Given the description of an element on the screen output the (x, y) to click on. 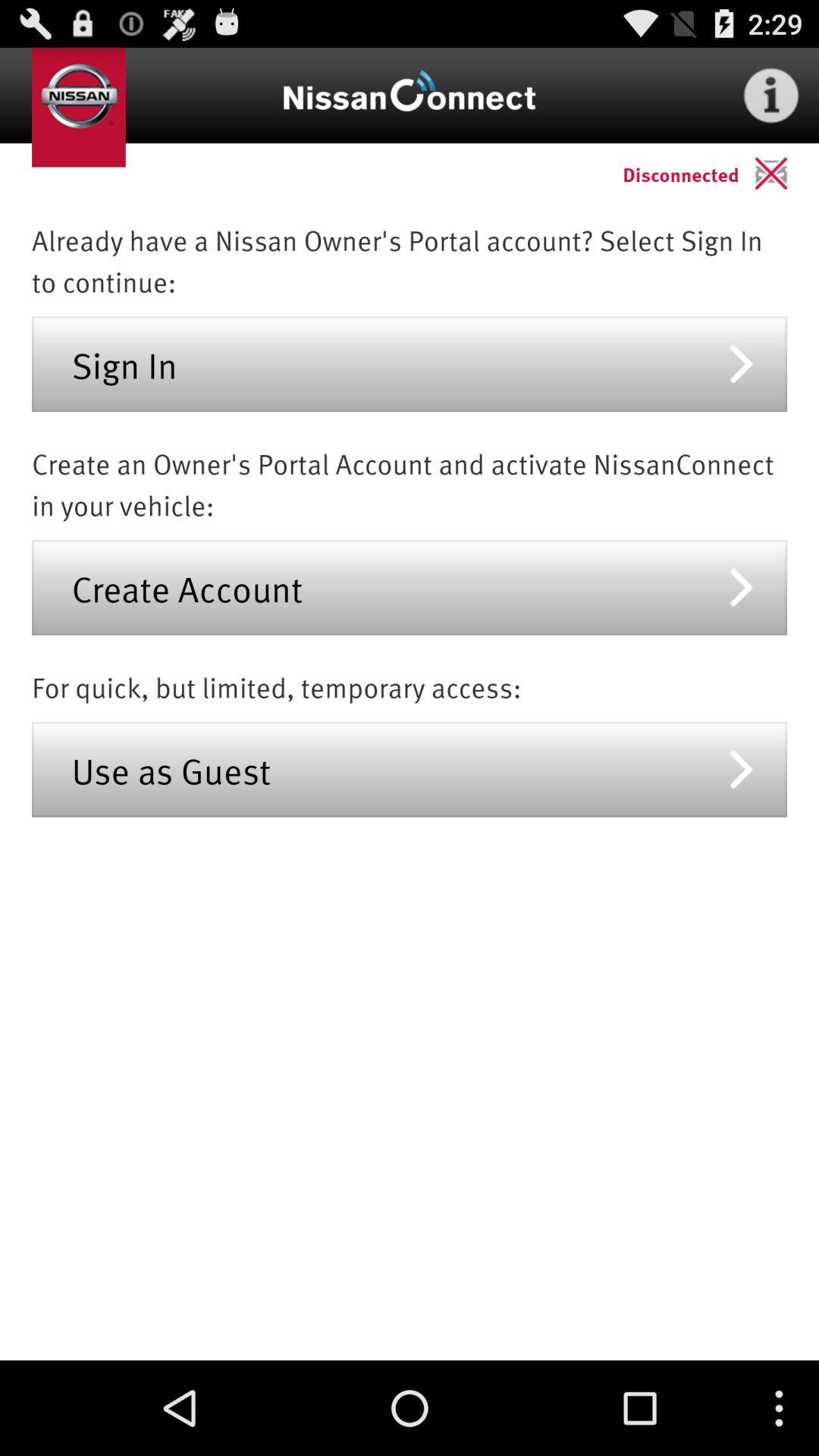
flip until use as guest (409, 769)
